Given the description of an element on the screen output the (x, y) to click on. 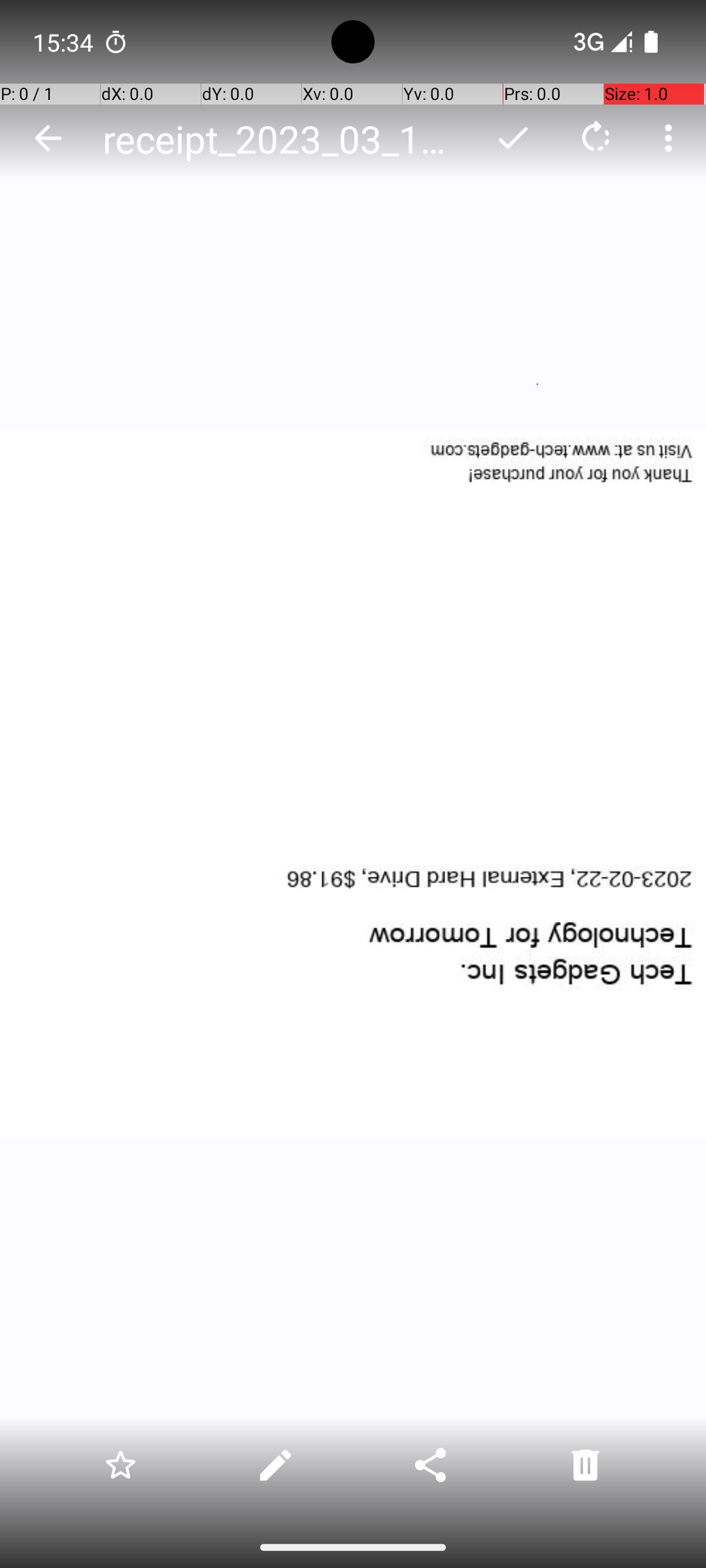
receipt_2023_03_15_pretty_jacket.jpg Element type: android.widget.TextView (283, 138)
Save as Element type: android.widget.Button (512, 137)
Toggle favorite Element type: android.widget.ImageView (120, 1464)
